Given the description of an element on the screen output the (x, y) to click on. 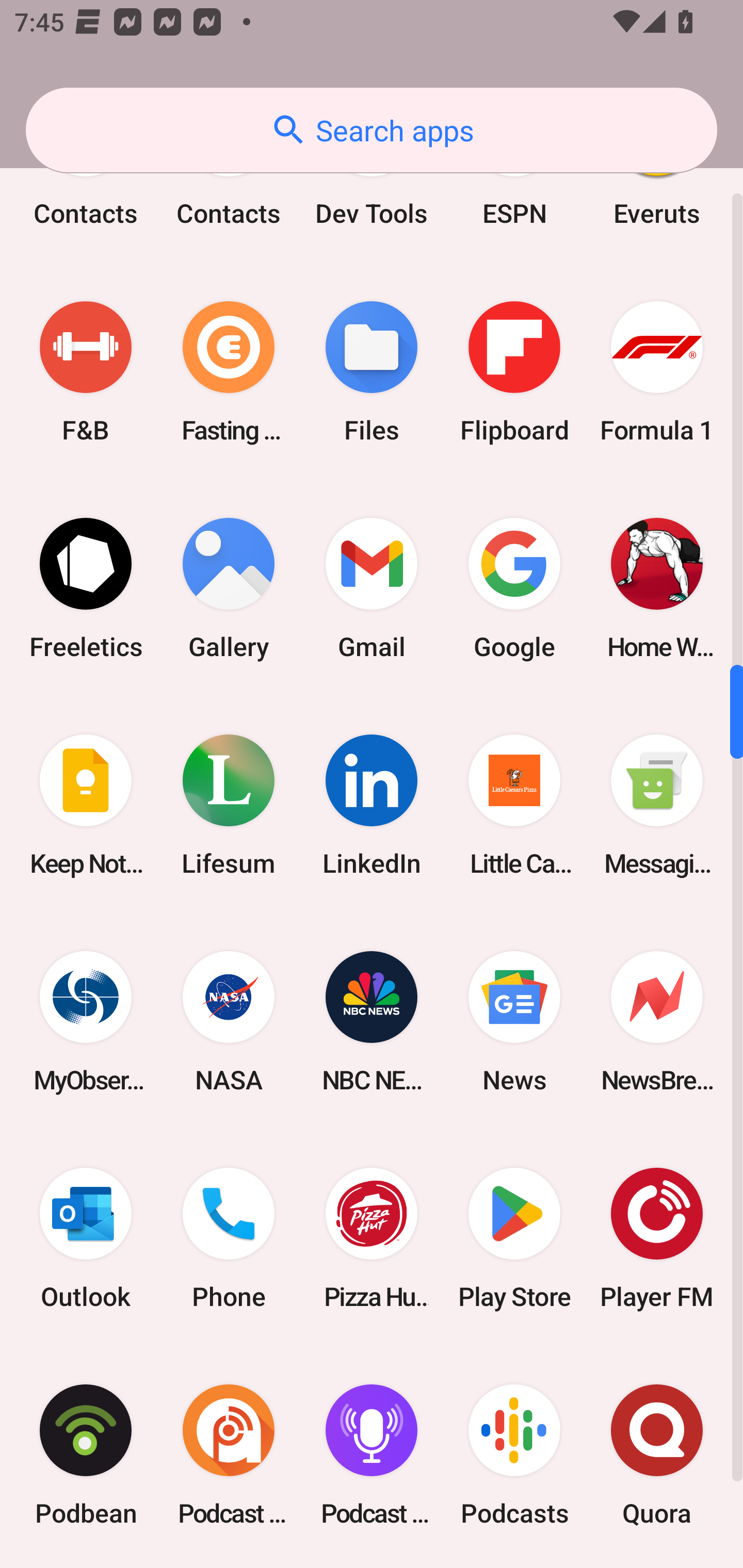
  Search apps (371, 130)
F&B (85, 371)
Fasting Coach (228, 371)
Files (371, 371)
Flipboard (514, 371)
Formula 1 (656, 371)
Freeletics (85, 587)
Gallery (228, 587)
Gmail (371, 587)
Google (514, 587)
Home Workout (656, 587)
Keep Notes (85, 805)
Lifesum (228, 805)
LinkedIn (371, 805)
Little Caesars Pizza (514, 805)
Messaging (656, 805)
MyObservatory (85, 1022)
NASA (228, 1022)
NBC NEWS (371, 1022)
News (514, 1022)
NewsBreak (656, 1022)
Outlook (85, 1238)
Phone (228, 1238)
Pizza Hut HK & Macau (371, 1238)
Play Store (514, 1238)
Player FM (656, 1238)
Podbean (85, 1454)
Podcast Addict (228, 1454)
Podcast Player (371, 1454)
Podcasts (514, 1454)
Quora (656, 1454)
